Given the description of an element on the screen output the (x, y) to click on. 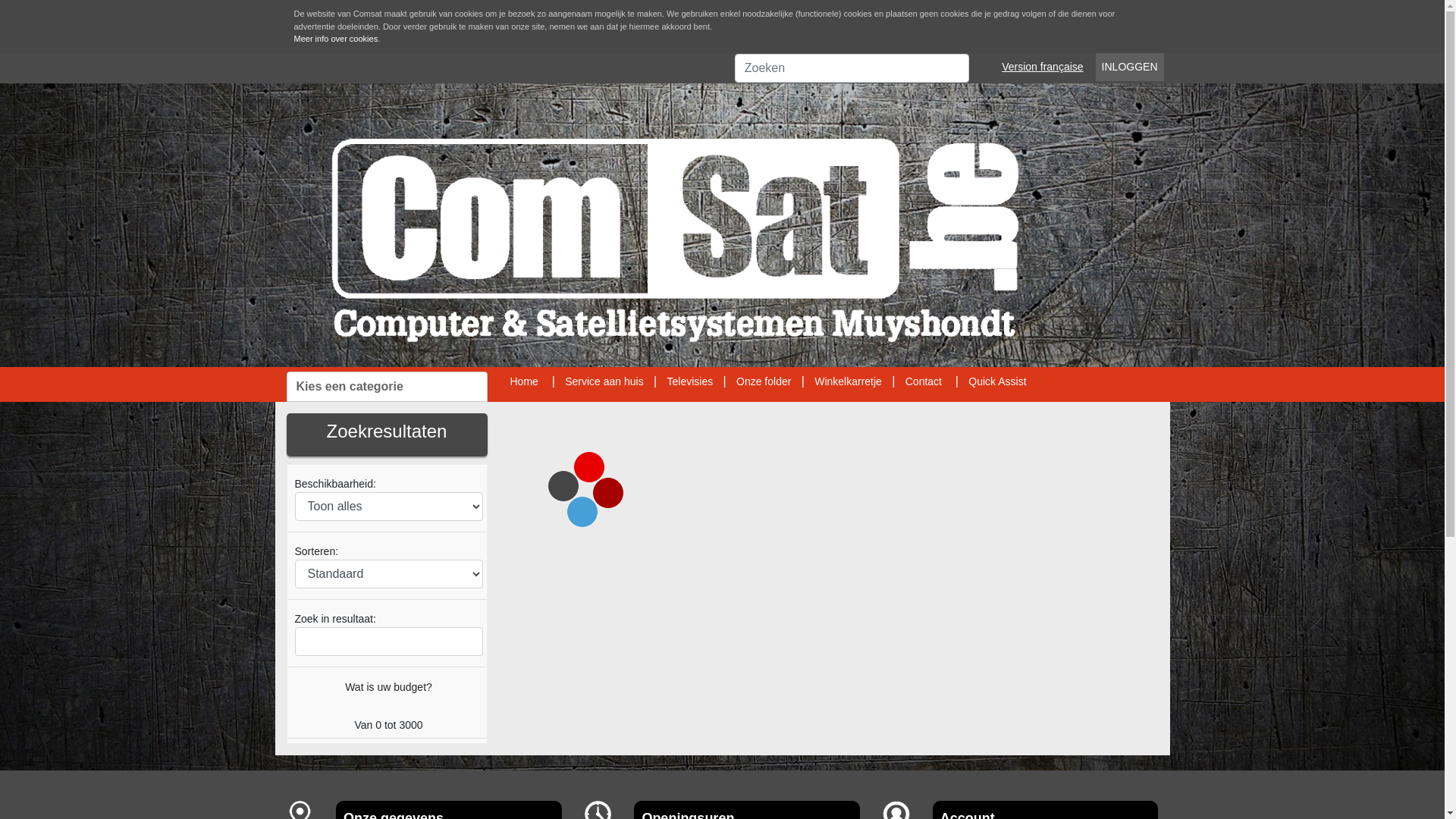
Home Element type: text (523, 381)
Quick Assist Element type: text (997, 381)
Onze folder Element type: text (763, 381)
Service aan huis Element type: text (603, 381)
Contact Element type: text (923, 381)
Meer info over cookies Element type: text (336, 38)
Kies een categorie Element type: text (386, 386)
Winkelkarretje Element type: text (847, 381)
Televisies Element type: text (689, 381)
